Given the description of an element on the screen output the (x, y) to click on. 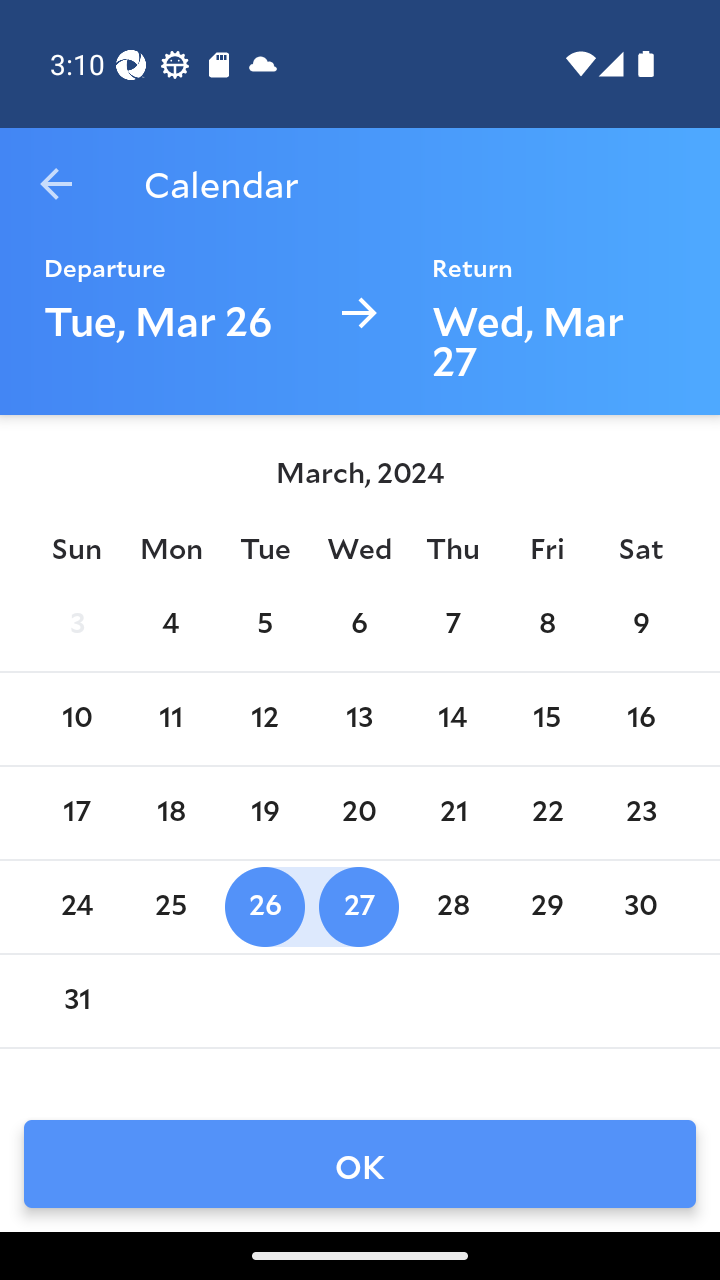
Navigate up (56, 184)
3 (76, 624)
4 (170, 624)
5 (264, 624)
6 (358, 624)
7 (453, 624)
8 (546, 624)
9 (641, 624)
10 (76, 718)
11 (170, 718)
12 (264, 718)
13 (358, 718)
14 (453, 718)
15 (546, 718)
16 (641, 718)
17 (76, 812)
18 (170, 812)
19 (264, 812)
20 (358, 812)
21 (453, 812)
22 (546, 812)
23 (641, 812)
24 (76, 906)
25 (170, 906)
26 (264, 906)
27 (358, 906)
28 (453, 906)
29 (546, 906)
30 (641, 906)
31 (76, 1000)
OK (359, 1164)
